Given the description of an element on the screen output the (x, y) to click on. 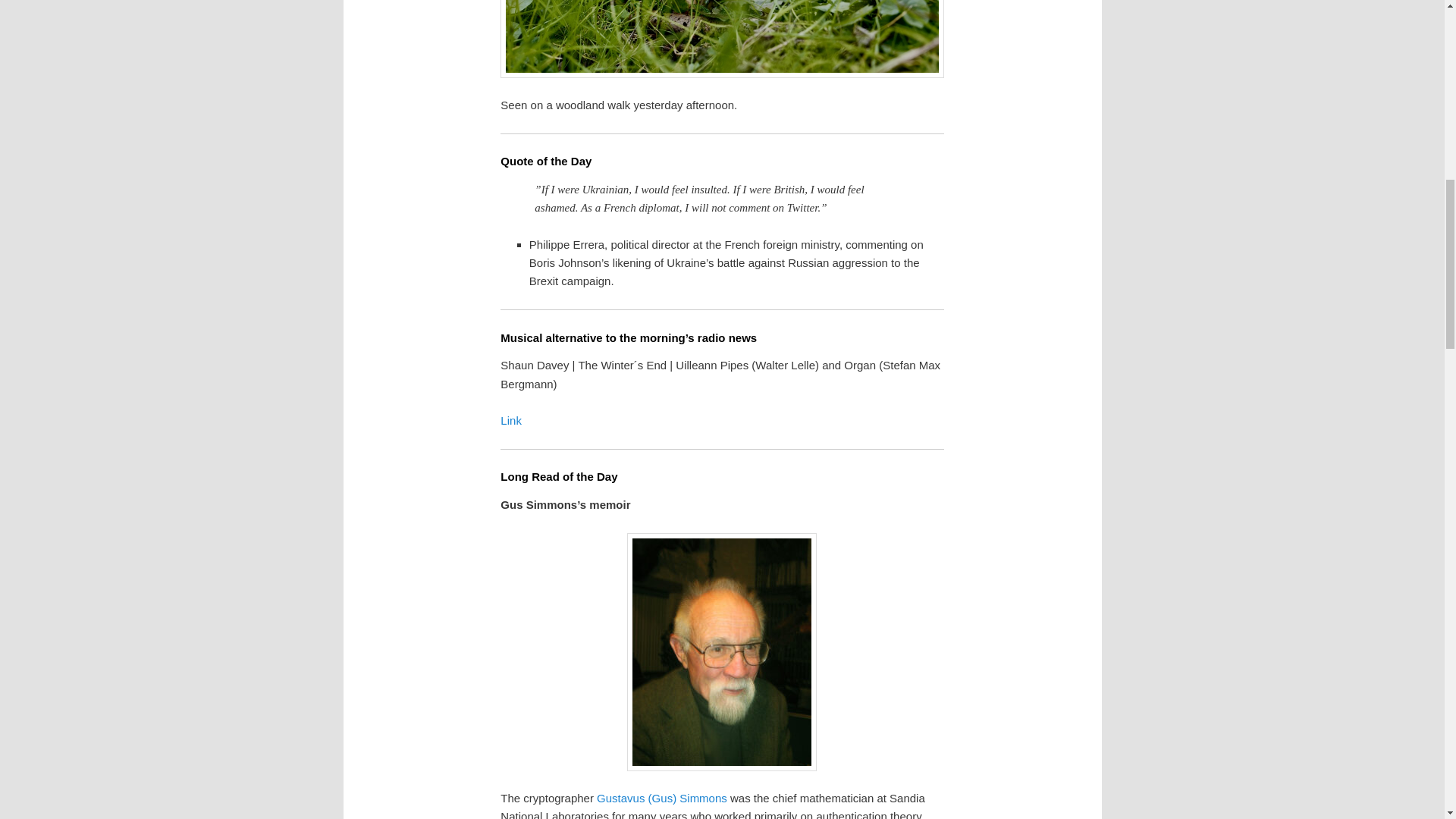
Link (510, 420)
